Given the description of an element on the screen output the (x, y) to click on. 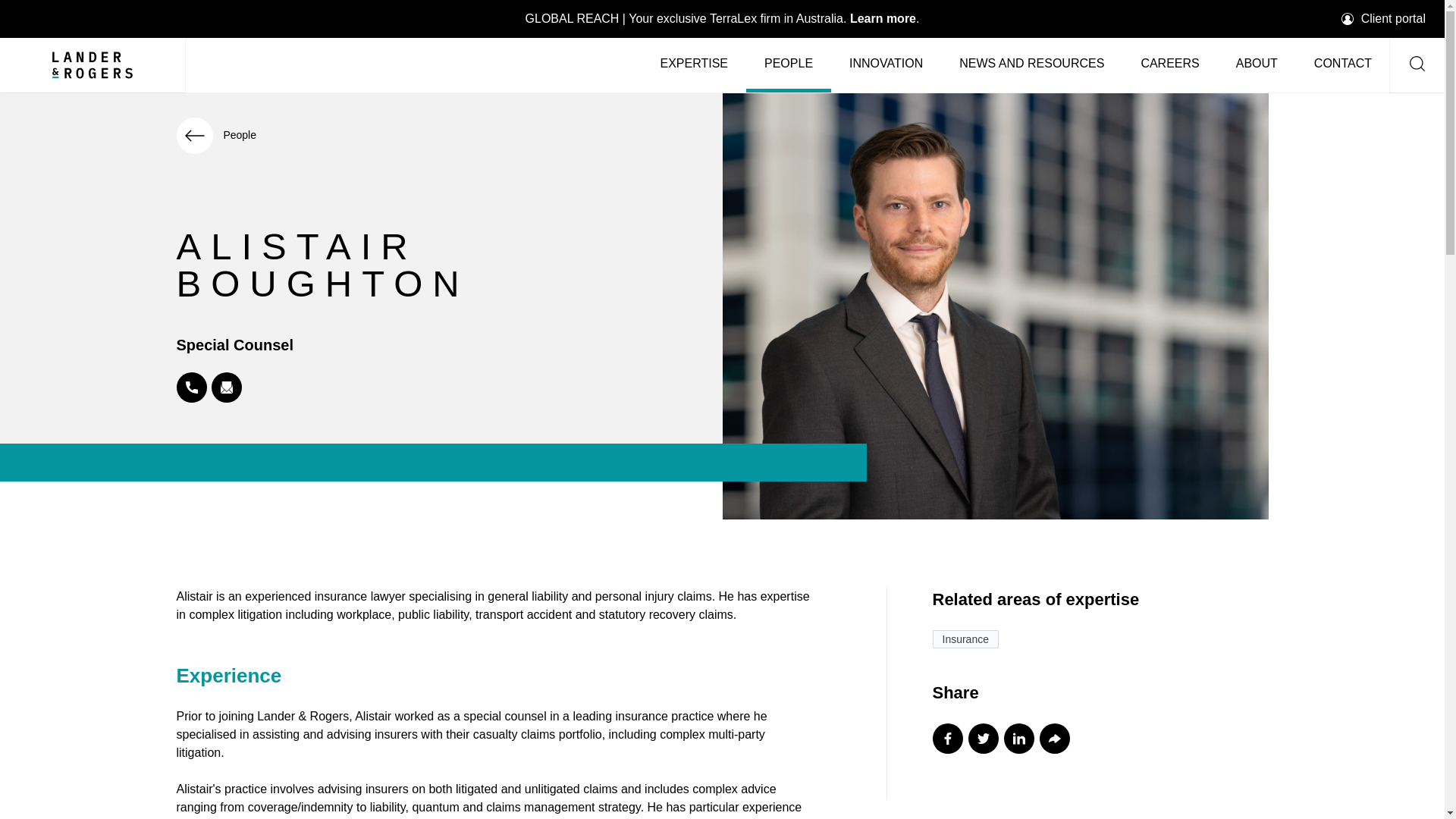
PEOPLE (788, 63)
NEWS AND RESOURCES (1031, 63)
EXPERTISE (693, 63)
INNOVATION (885, 63)
TerraLex global network (722, 18)
